Given the description of an element on the screen output the (x, y) to click on. 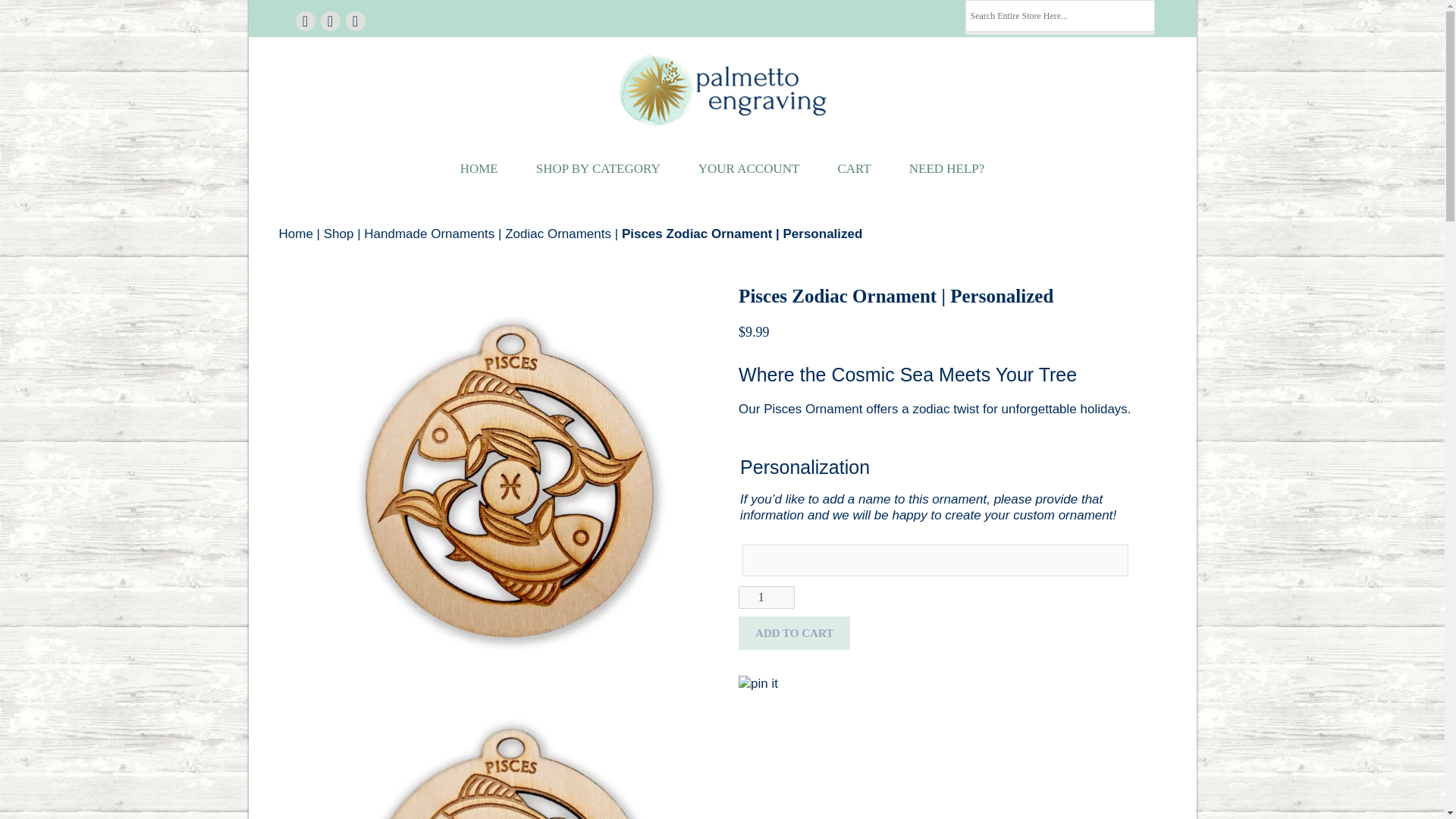
NEED HELP? (946, 168)
1 (766, 597)
Zodiac Ornaments (558, 233)
Handmade Ornaments (429, 233)
Shop (338, 233)
ADD TO CART (794, 633)
SHOP BY CATEGORY (597, 168)
CART (853, 168)
HOME (478, 168)
YOUR ACCOUNT (748, 168)
